Given the description of an element on the screen output the (x, y) to click on. 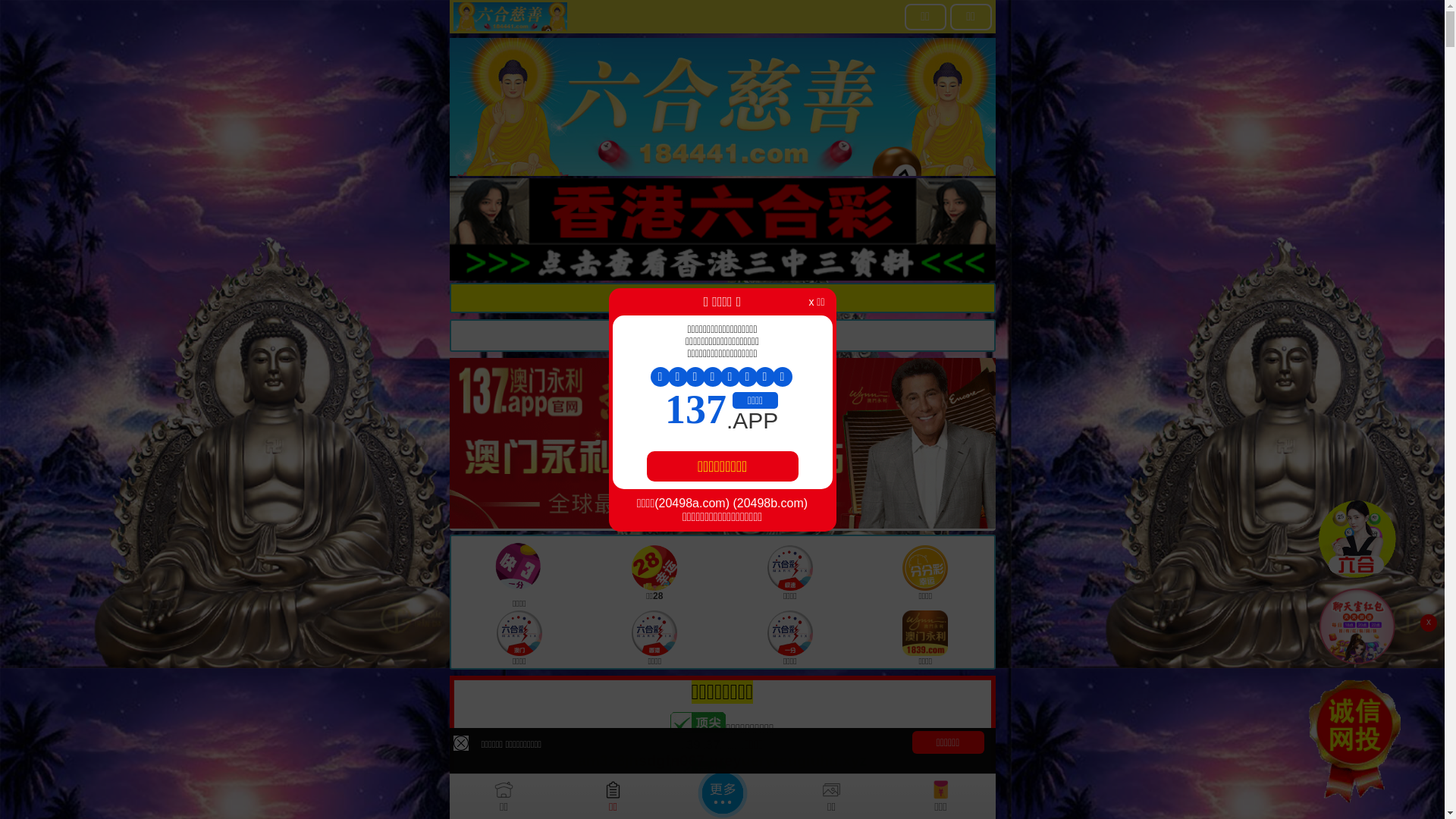
x Element type: text (1428, 622)
